Given the description of an element on the screen output the (x, y) to click on. 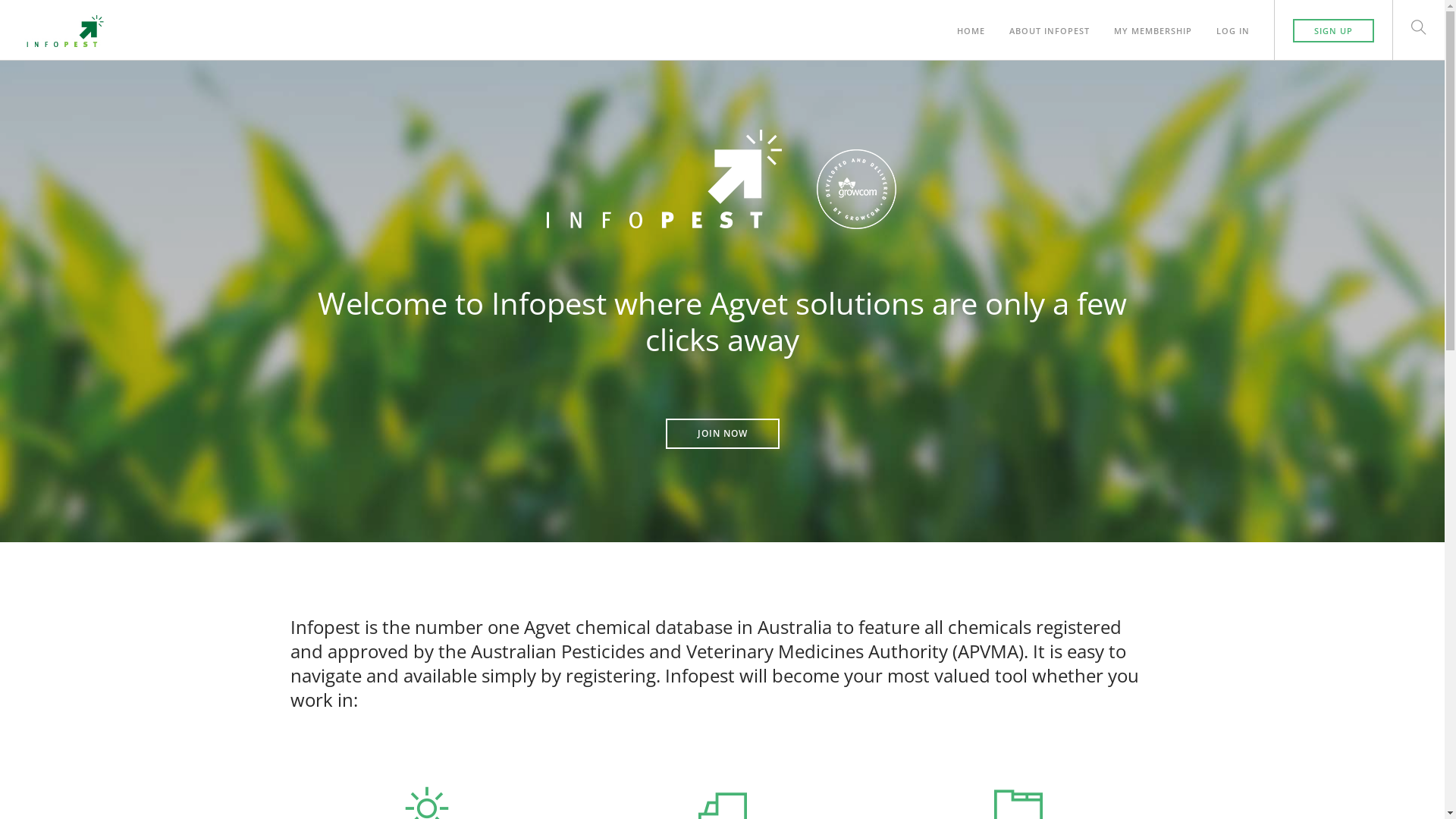
SIGN UP Element type: text (1333, 30)
ABOUT INFOPEST Element type: text (1049, 22)
LOG IN Element type: text (1232, 22)
MY MEMBERSHIP Element type: text (1152, 22)
JOIN NOW Element type: text (722, 433)
HOME Element type: text (971, 22)
